Given the description of an element on the screen output the (x, y) to click on. 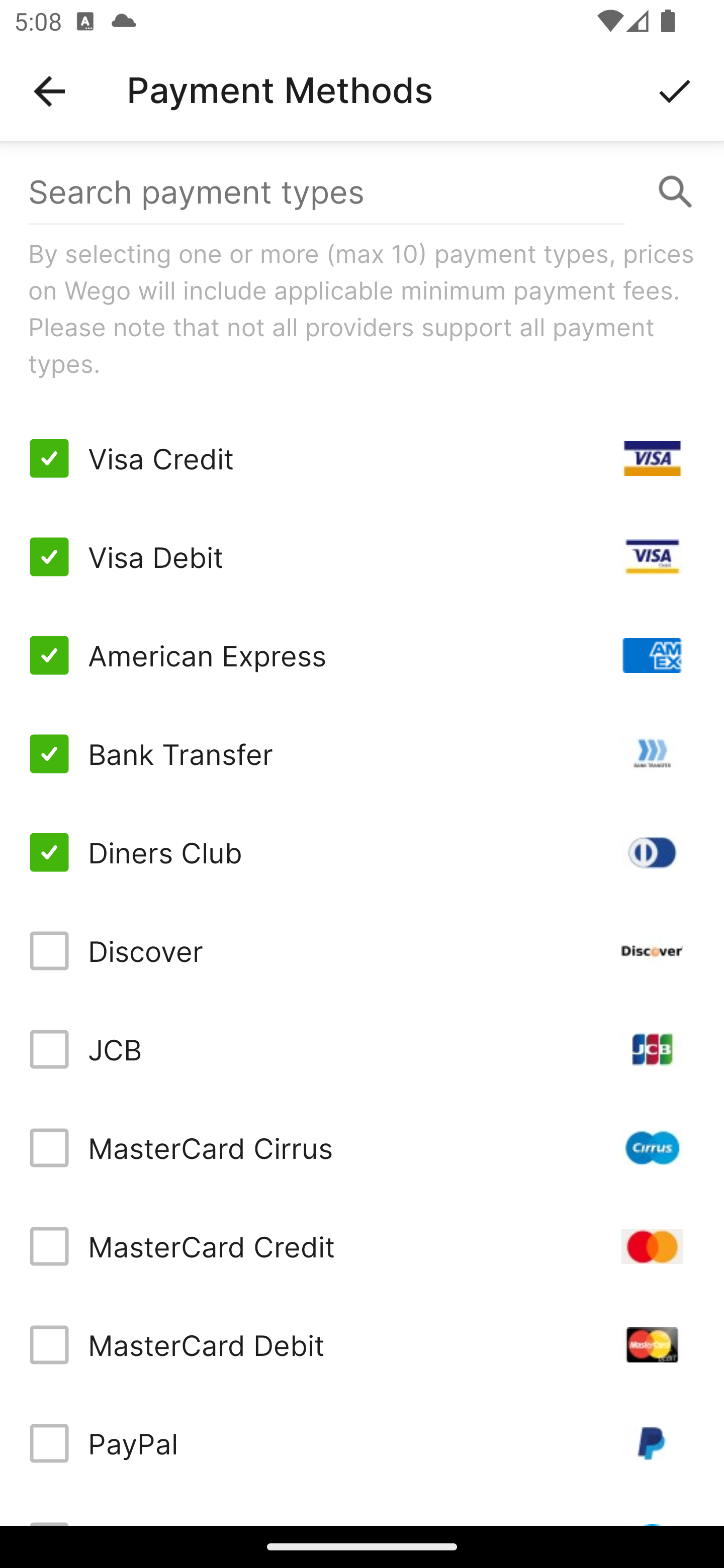
Search payment types  (361, 191)
Visa Credit (362, 458)
Visa Debit (362, 557)
American Express (362, 655)
Bank Transfer (362, 753)
Diners Club (362, 851)
Discover (362, 950)
JCB (362, 1049)
MasterCard Cirrus (362, 1147)
MasterCard Credit (362, 1245)
MasterCard Debit (362, 1344)
PayPal (362, 1442)
